Given the description of an element on the screen output the (x, y) to click on. 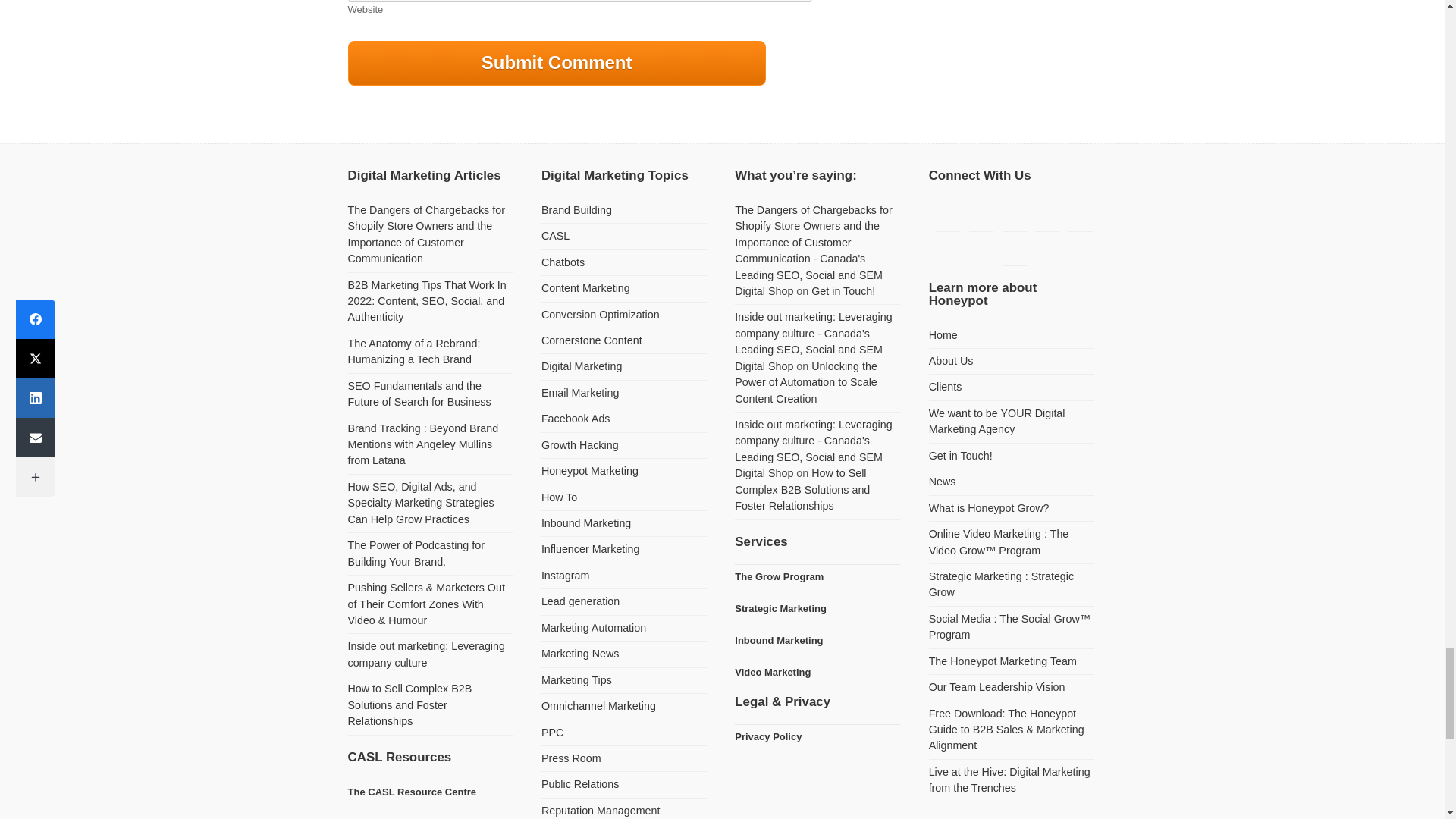
News (942, 481)
About Us (951, 360)
We want to be YOUR Digital Marketing Agency (996, 420)
What is Honeypot Grow? (988, 508)
Home (943, 335)
Clients (945, 386)
Get in Touch! (960, 455)
Submit Comment (556, 62)
